Given the description of an element on the screen output the (x, y) to click on. 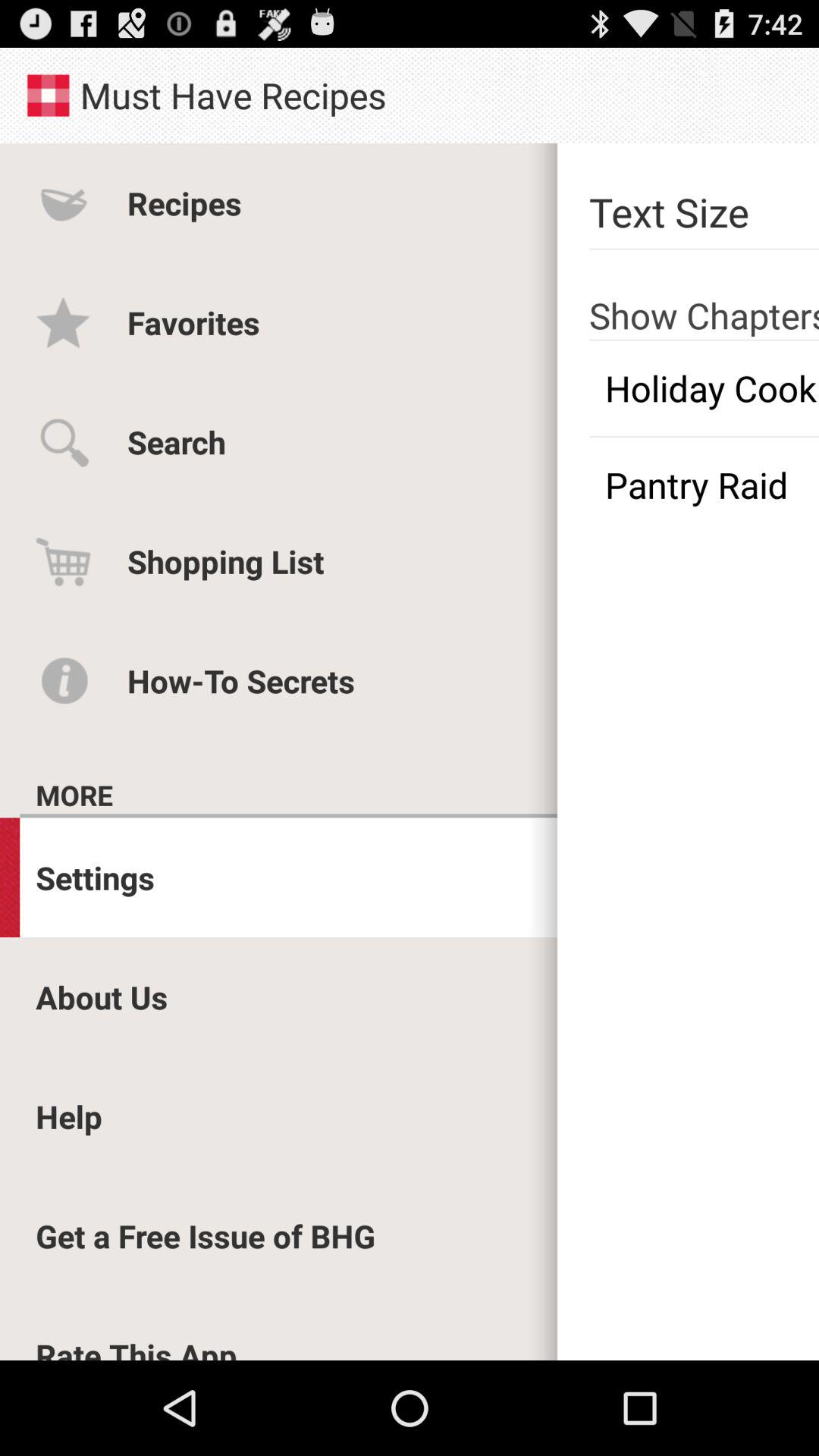
jump until pantry raid checkbox (704, 484)
